Given the description of an element on the screen output the (x, y) to click on. 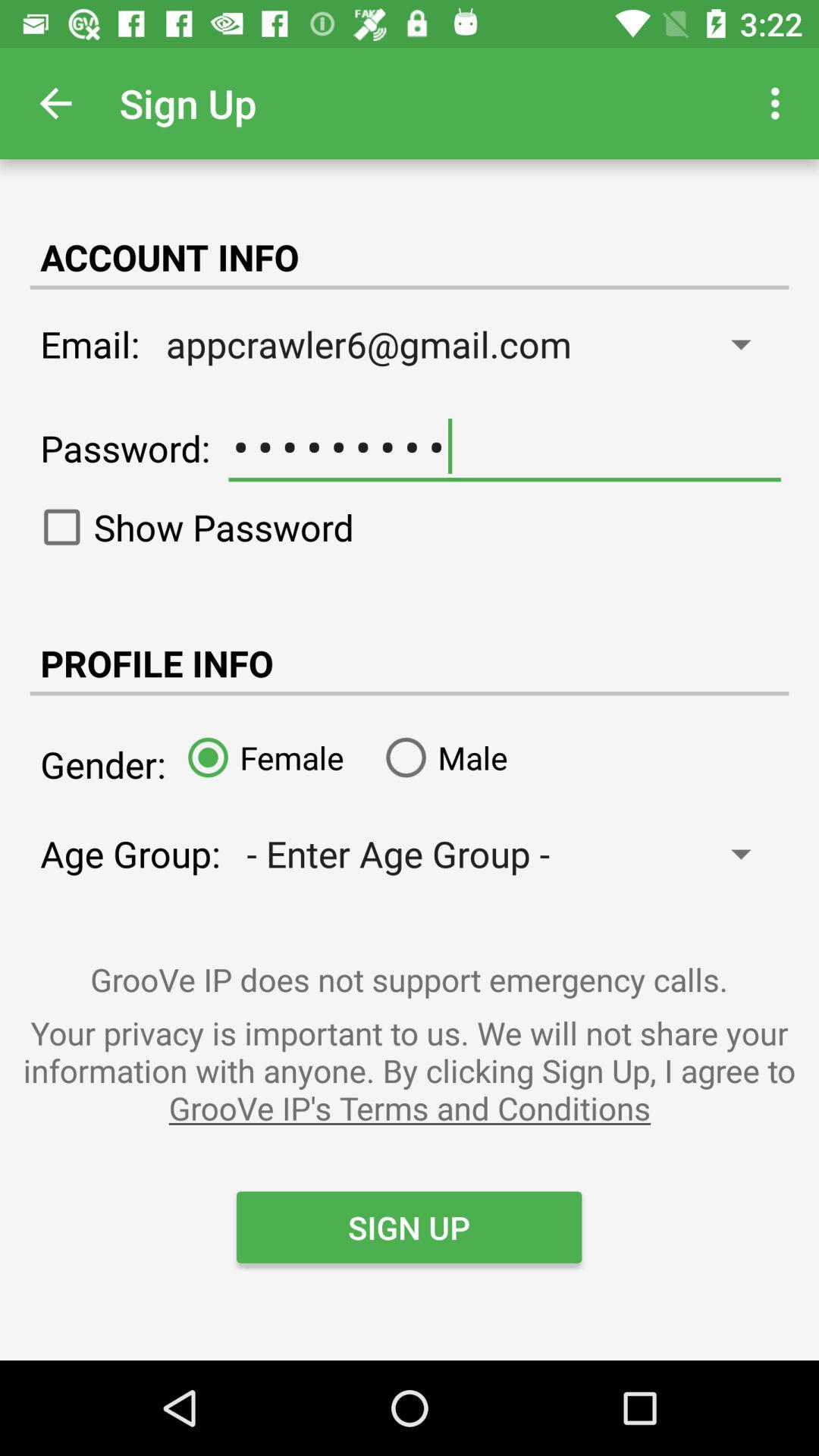
click the item next to male item (260, 757)
